Given the description of an element on the screen output the (x, y) to click on. 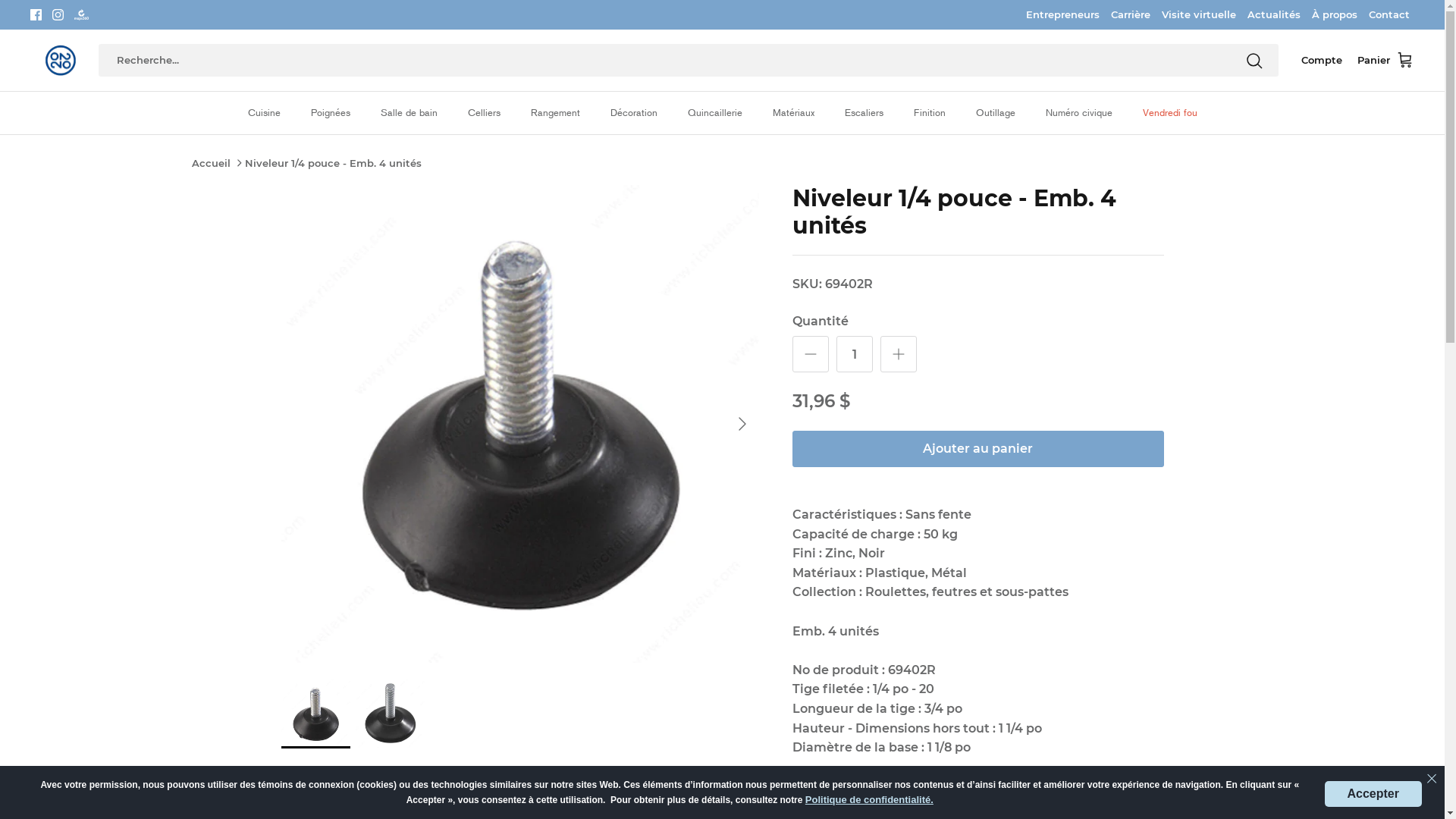
Escaliers Element type: text (864, 112)
Salle de bain Element type: text (409, 112)
Visite virtuelle Element type: text (1198, 14)
Celliers Element type: text (483, 112)
Droite Element type: text (741, 423)
Accueil Element type: text (210, 162)
Quincaillerie Element type: text (714, 112)
Ajouter au panier Element type: text (977, 448)
Entrepreneurs Element type: text (1062, 14)
Instagram Element type: text (57, 14)
Vendredi fou Element type: text (1169, 112)
Panier Element type: text (1385, 60)
Distribution 2020 Element type: hover (60, 60)
Contact Element type: text (1388, 14)
Plus Element type: text (897, 353)
Finition Element type: text (928, 112)
Moins Element type: text (809, 353)
Facebook Element type: text (35, 14)
Outillage Element type: text (994, 112)
Rangement Element type: text (555, 112)
Cuisine Element type: text (263, 112)
Compte Element type: text (1321, 60)
